Given the description of an element on the screen output the (x, y) to click on. 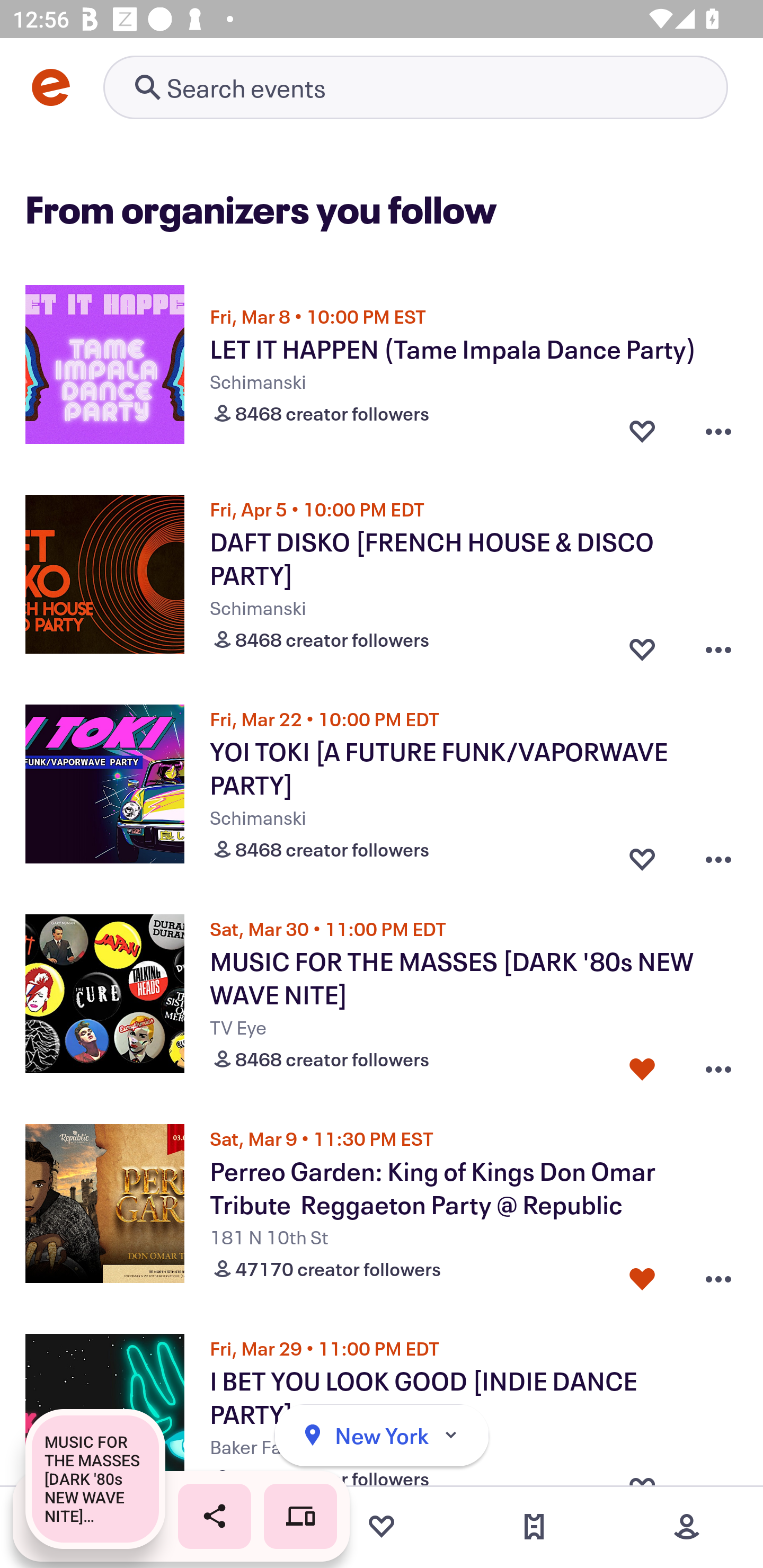
Retry's image Search events (415, 86)
Favorite button (642, 430)
Overflow menu button (718, 430)
Favorite button (642, 644)
Overflow menu button (718, 644)
Favorite button (642, 855)
Overflow menu button (718, 855)
Favorite button (642, 1065)
Overflow menu button (718, 1065)
Favorite button (642, 1274)
Overflow menu button (718, 1274)
New York (381, 1435)
Favorites (381, 1526)
Tickets (533, 1526)
More (686, 1526)
